Given the description of an element on the screen output the (x, y) to click on. 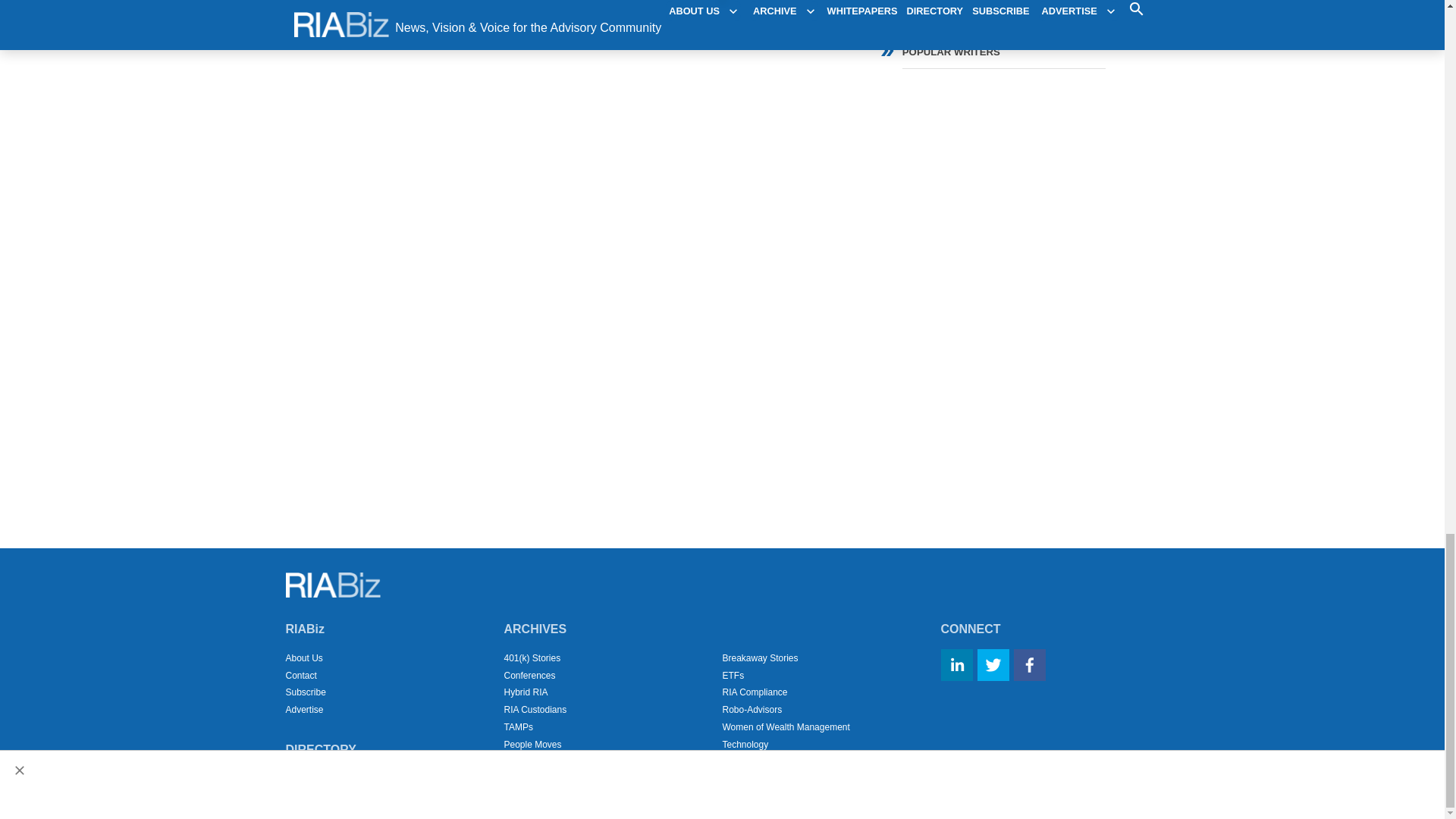
Conferences (528, 675)
RIA Custodians (534, 709)
About Us (303, 657)
Advertise (304, 709)
DIRECTORY (320, 748)
COMMON TAGS (991, 2)
Contact (300, 675)
Robo-Advisors (751, 709)
Breakaway Stories (759, 657)
Subscribe (304, 692)
